Given the description of an element on the screen output the (x, y) to click on. 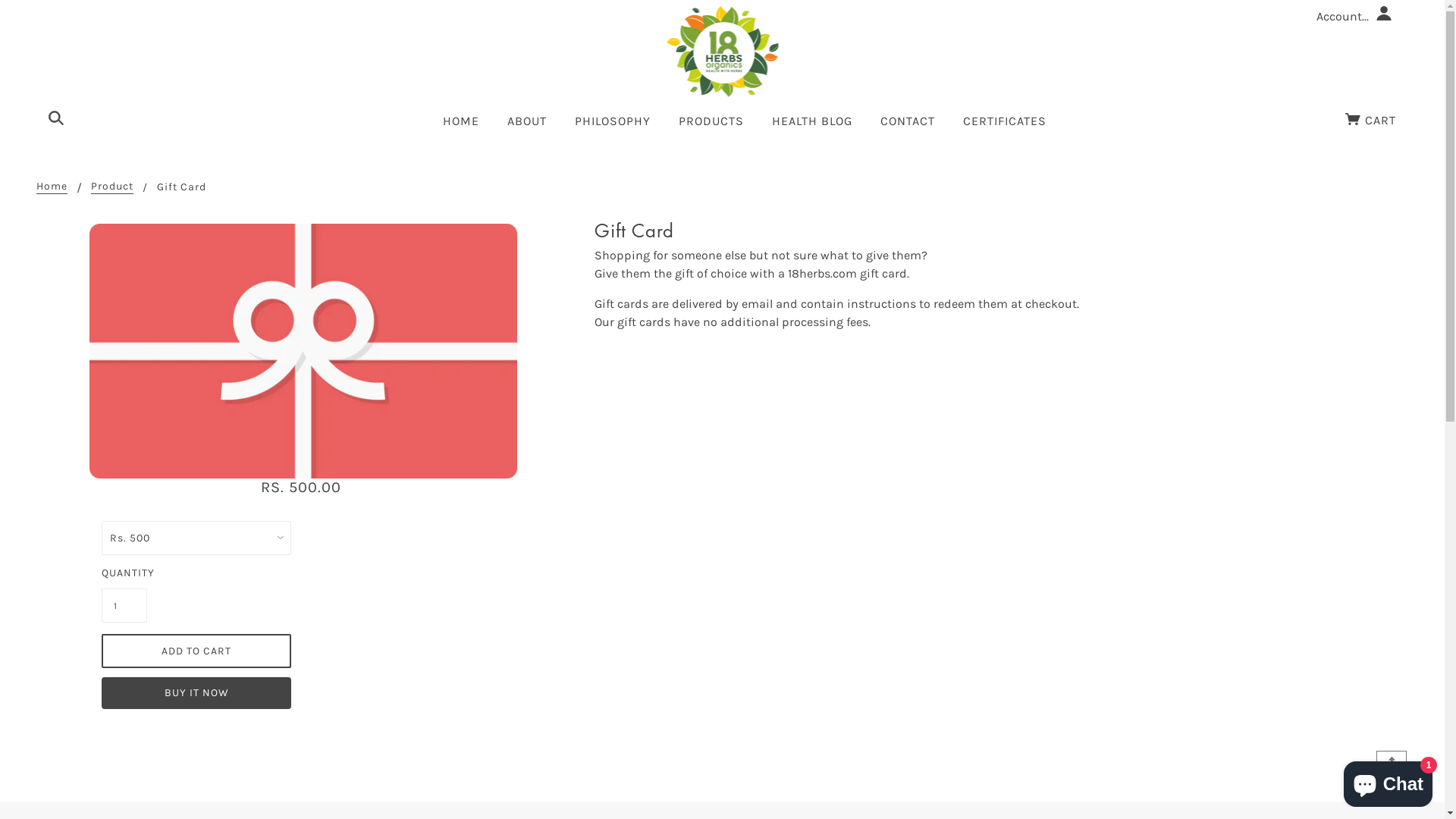
ADD TO CART Element type: text (196, 650)
CONTACT Element type: text (906, 127)
www.18herbs.com Element type: hover (722, 50)
CERTIFICATES Element type: text (1004, 127)
HEALTH BLOG Element type: text (811, 127)
PHILOSOPHY Element type: text (612, 127)
PRODUCTS Element type: text (710, 127)
Home Element type: text (51, 186)
ABOUT Element type: text (526, 127)
Product Element type: text (112, 186)
Account... Element type: text (1356, 15)
Shopify online store chat Element type: hover (1388, 780)
HOME Element type: text (460, 127)
CART Element type: text (1368, 120)
BUY IT NOW Element type: text (196, 693)
